Given the description of an element on the screen output the (x, y) to click on. 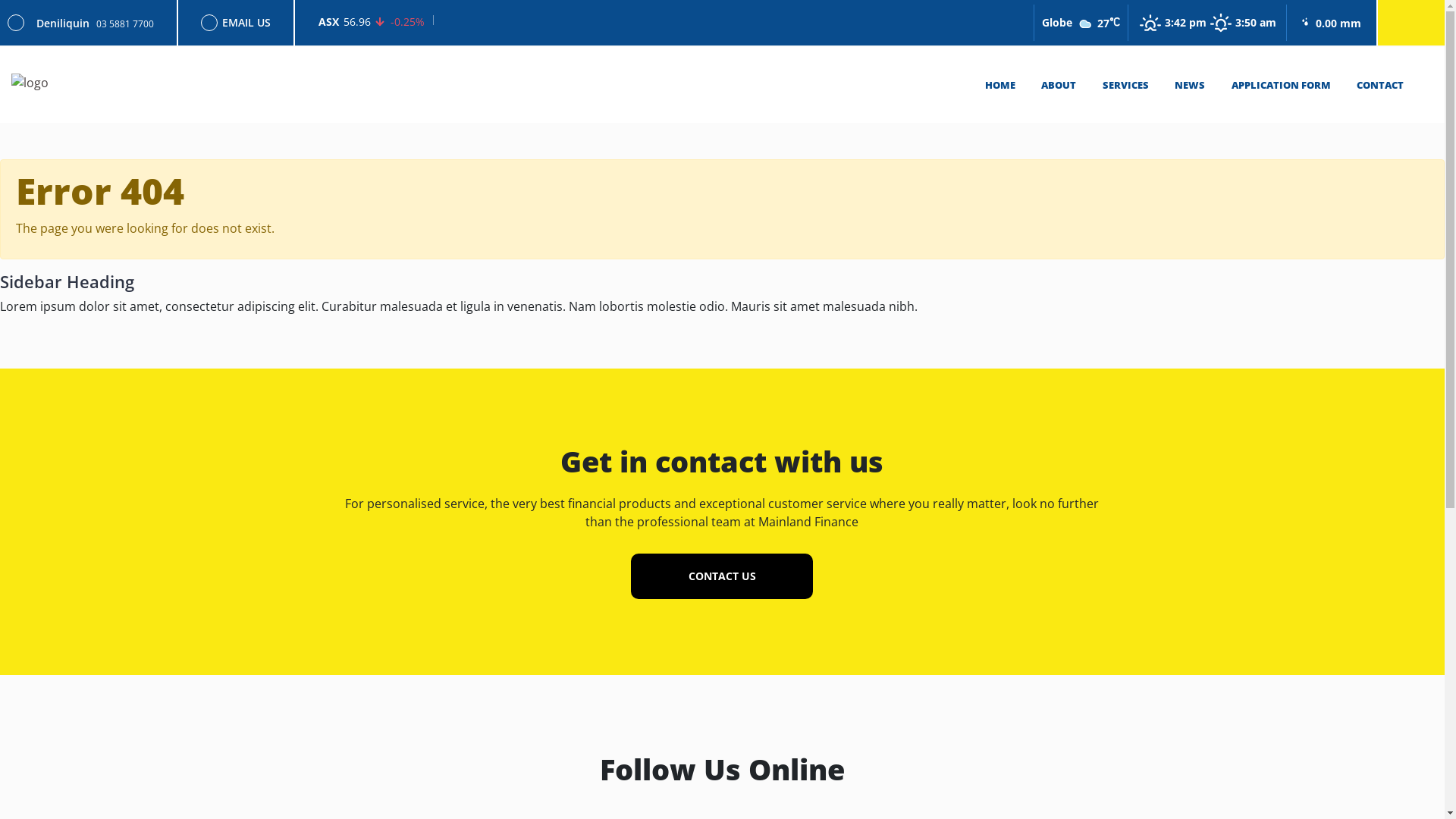
CONTACT Element type: text (1380, 84)
HOME Element type: text (999, 84)
Deniliquin 03 5881 7700 Element type: text (90, 22)
ABOUT Element type: text (1058, 84)
SERVICES Element type: text (1125, 84)
NEWS Element type: text (1189, 84)
Overcast Clouds Element type: hover (1086, 28)
CONTACT US Element type: text (721, 576)
APPLICATION FORM Element type: text (1281, 84)
